Given the description of an element on the screen output the (x, y) to click on. 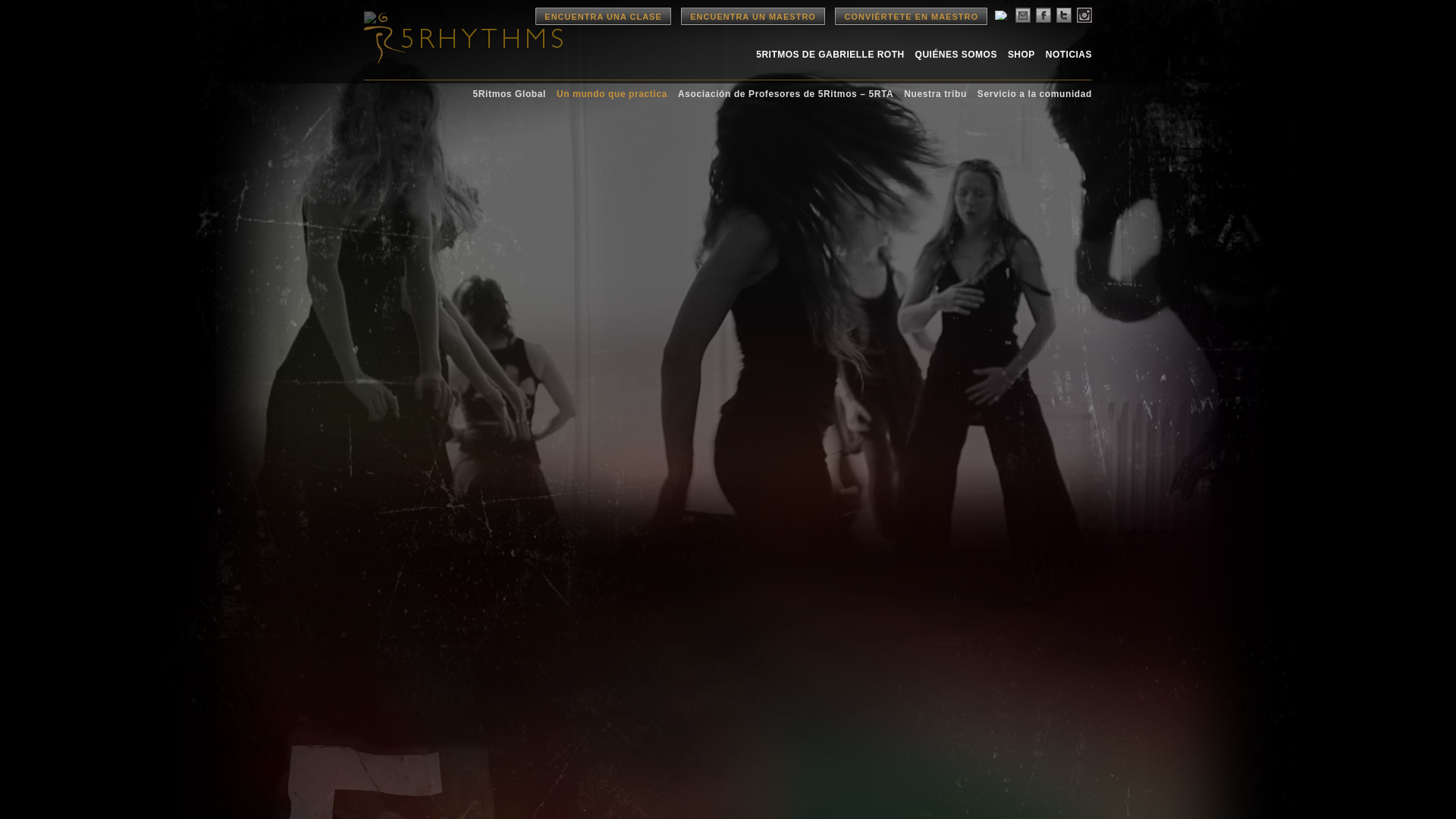
5RITMOS DE GABRIELLE ROTH (829, 54)
5Ritmos Global (509, 93)
ENCUENTRA UN MAESTRO (753, 16)
SHOP (1021, 54)
NOTICIAS (1068, 54)
ENCUENTRA UNA CLASE (602, 16)
Un mundo que practica (611, 93)
